Given the description of an element on the screen output the (x, y) to click on. 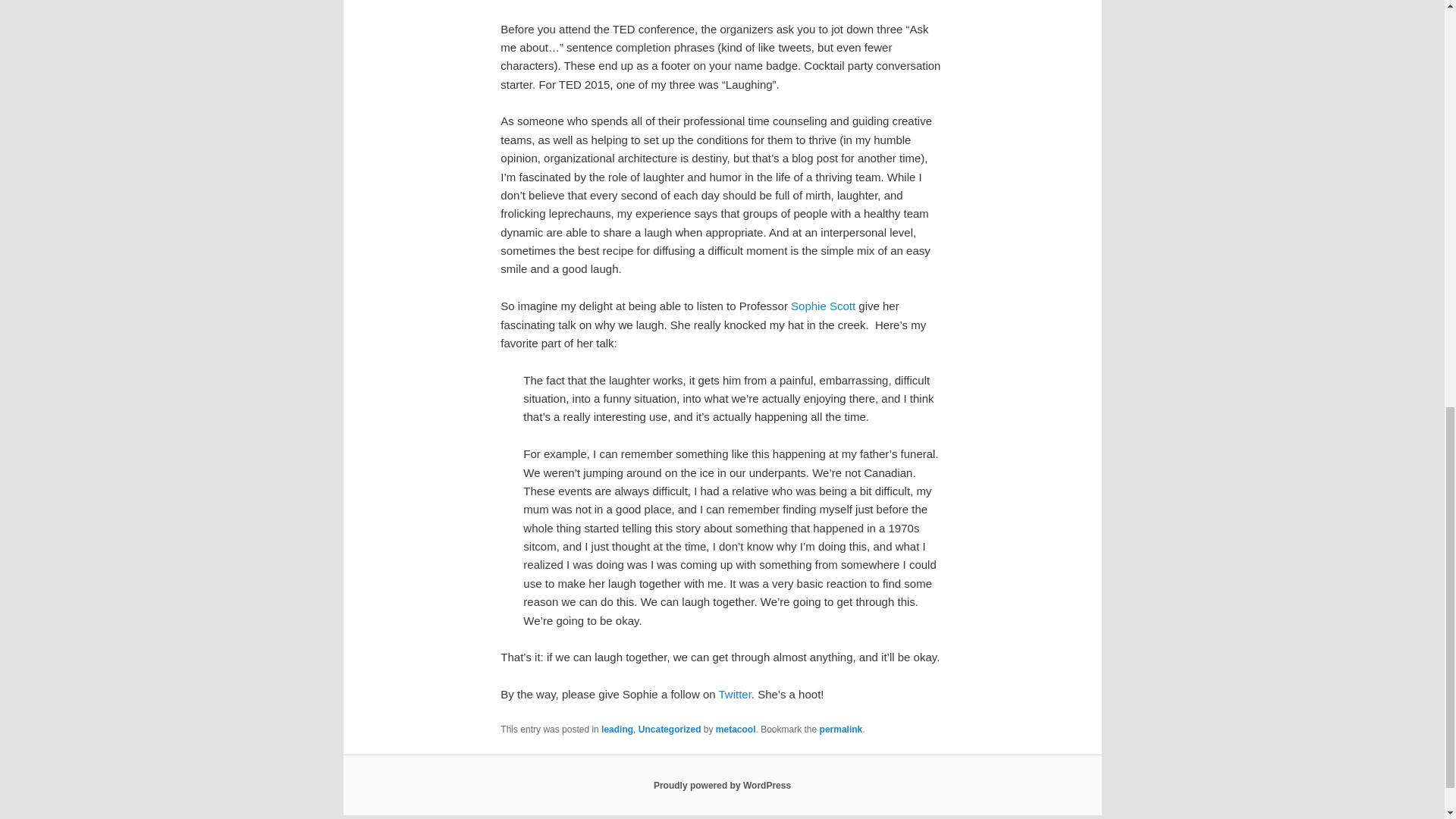
Permalink to Laughing: the killer app for teams? (841, 728)
Twitter (734, 694)
Sophie Scott (823, 305)
Uncategorized (670, 728)
Semantic Personal Publishing Platform (721, 785)
metacool (735, 728)
leading (617, 728)
permalink (841, 728)
Proudly powered by WordPress (721, 785)
